Given the description of an element on the screen output the (x, y) to click on. 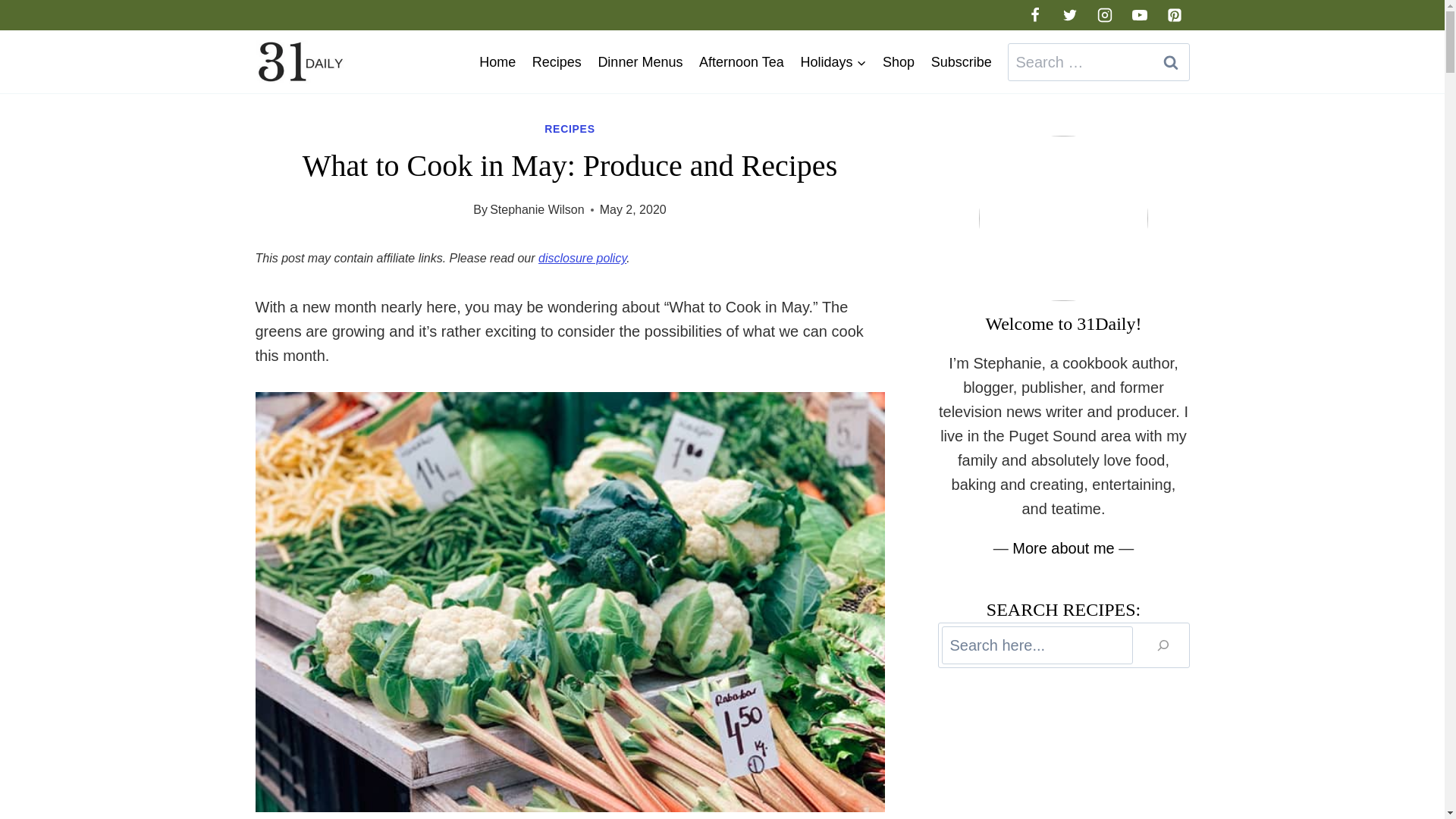
Search (1170, 62)
Afternoon Tea (741, 61)
Dinner Menus (640, 61)
Home (497, 61)
RECIPES (569, 128)
Search (1170, 62)
disclosure policy (582, 257)
Stephanie Wilson (537, 209)
Shop (899, 61)
Holidays (833, 61)
Subscribe (961, 61)
Recipes (556, 61)
Search (1170, 62)
